Given the description of an element on the screen output the (x, y) to click on. 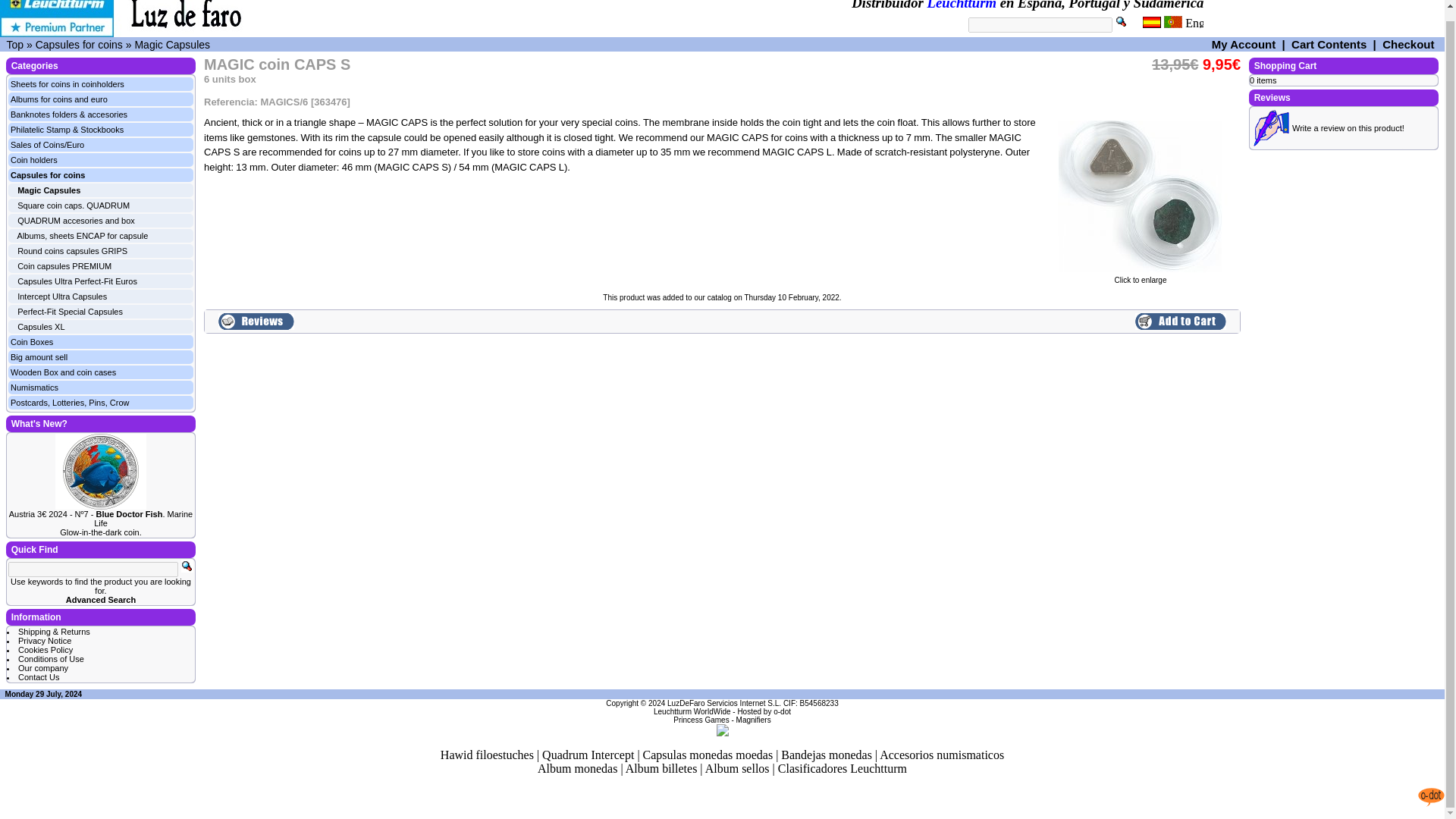
Capsules for coins (47, 174)
Advanced Search (100, 599)
Privacy Notice (44, 640)
Wooden Box and coin cases (63, 371)
 English  (1194, 21)
What's New? (38, 423)
Big amount sell (38, 356)
Capsules XL (40, 326)
Cookies Policy (44, 649)
Conditions of Use (50, 658)
Cart Contents (1329, 43)
Albums for coins and euro (58, 99)
Intercept Ultra Capsules (61, 296)
QUADRUM accesories and box (76, 220)
Numismatics (34, 387)
